Given the description of an element on the screen output the (x, y) to click on. 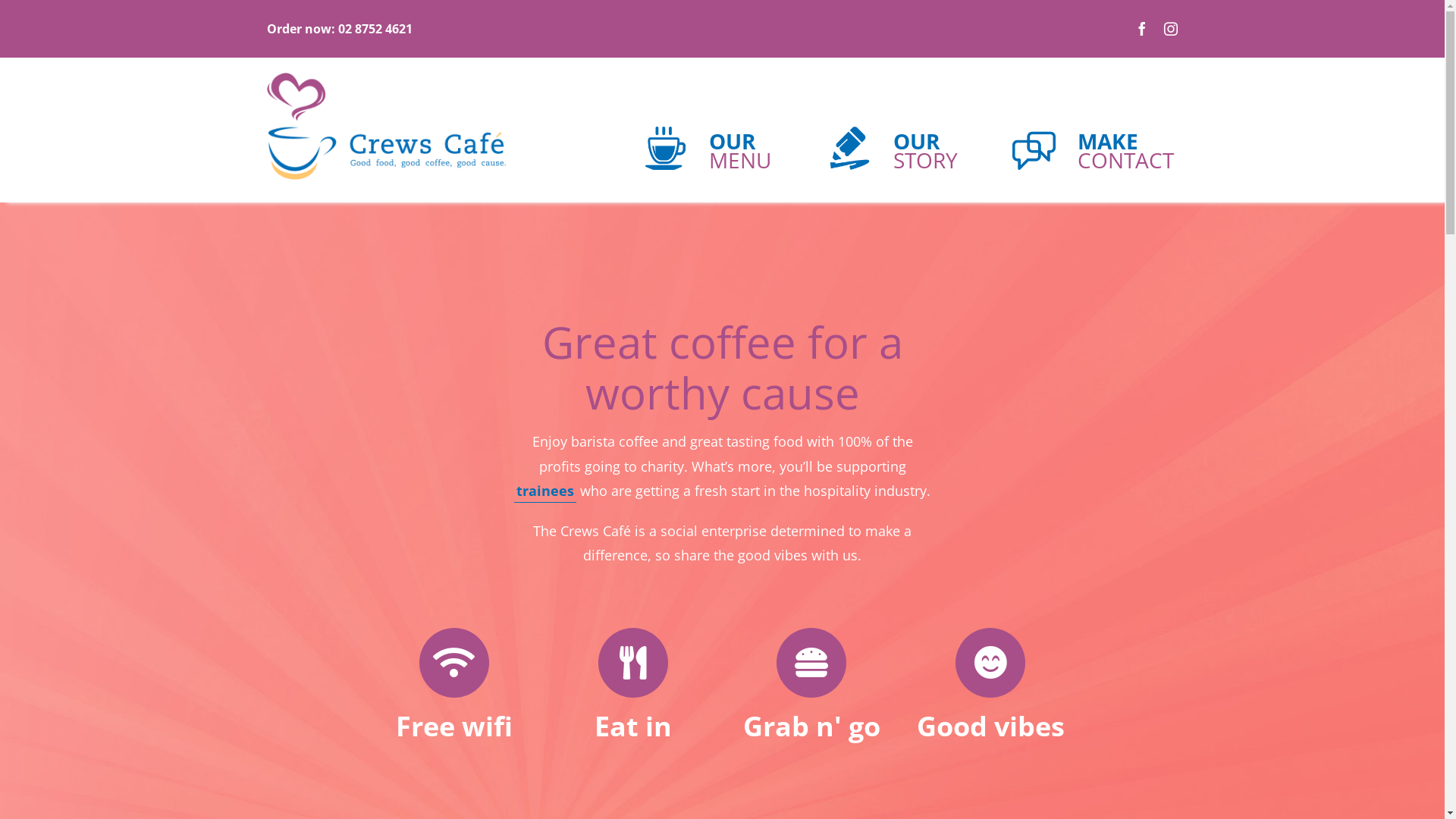
OUR
MENU Element type: text (687, 140)
tea Element type: hover (665, 147)
trainees Element type: text (545, 490)
MAKE
CONTACT Element type: text (1063, 140)
OUR
STORY Element type: text (872, 140)
enrol-now-icon Element type: hover (849, 147)
counselling Element type: hover (1033, 147)
